Given the description of an element on the screen output the (x, y) to click on. 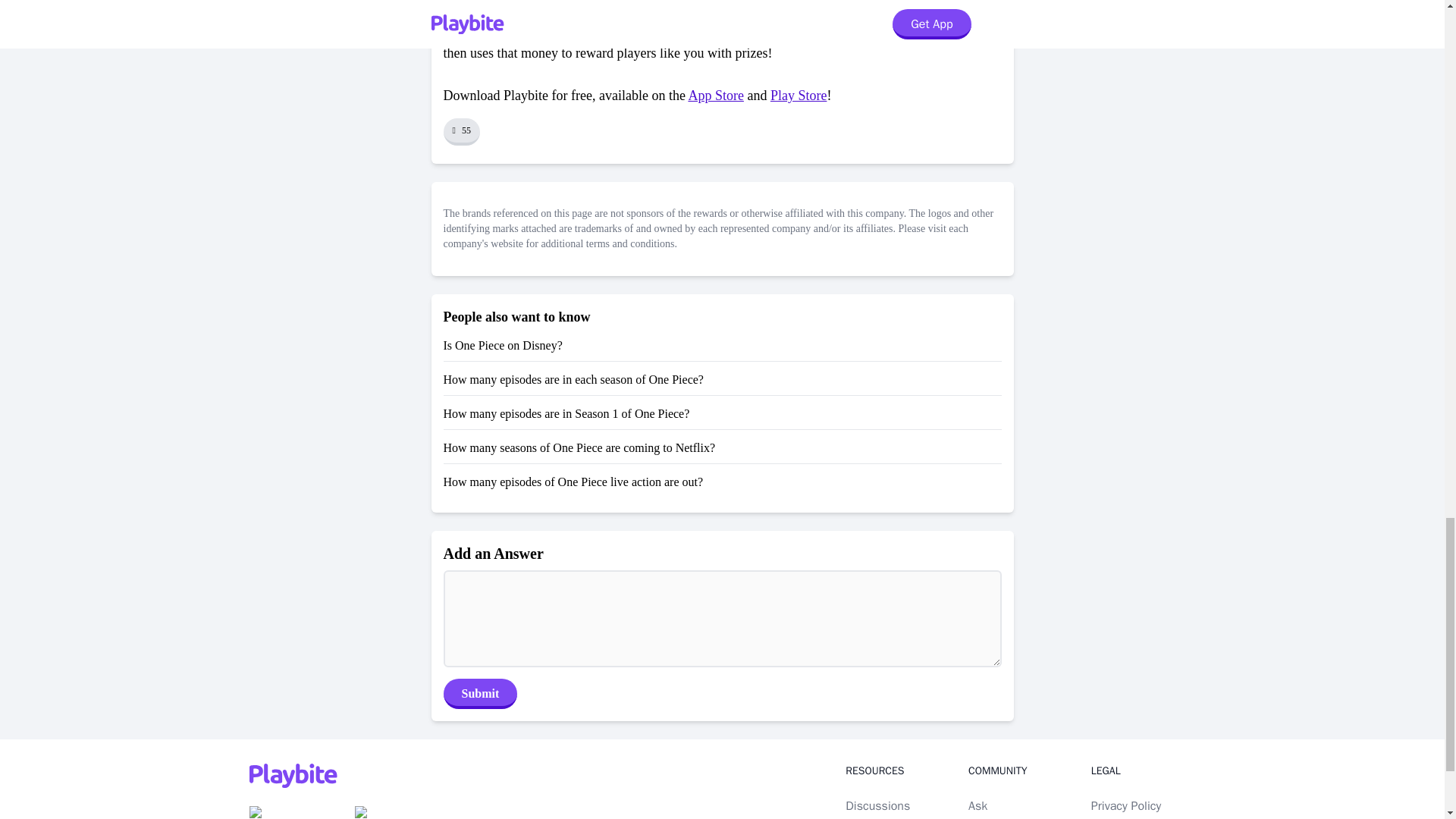
How many episodes of One Piece live action are out? (572, 481)
Is One Piece on Disney? (502, 345)
How many episodes are in each season of One Piece? (572, 379)
Ask (977, 806)
Play Store (798, 95)
How many seasons of One Piece are coming to Netflix? (578, 447)
How many episodes are in Season 1 of One Piece? (565, 413)
Submit (479, 693)
Discussions (877, 806)
Privacy Policy (1125, 806)
